Given the description of an element on the screen output the (x, y) to click on. 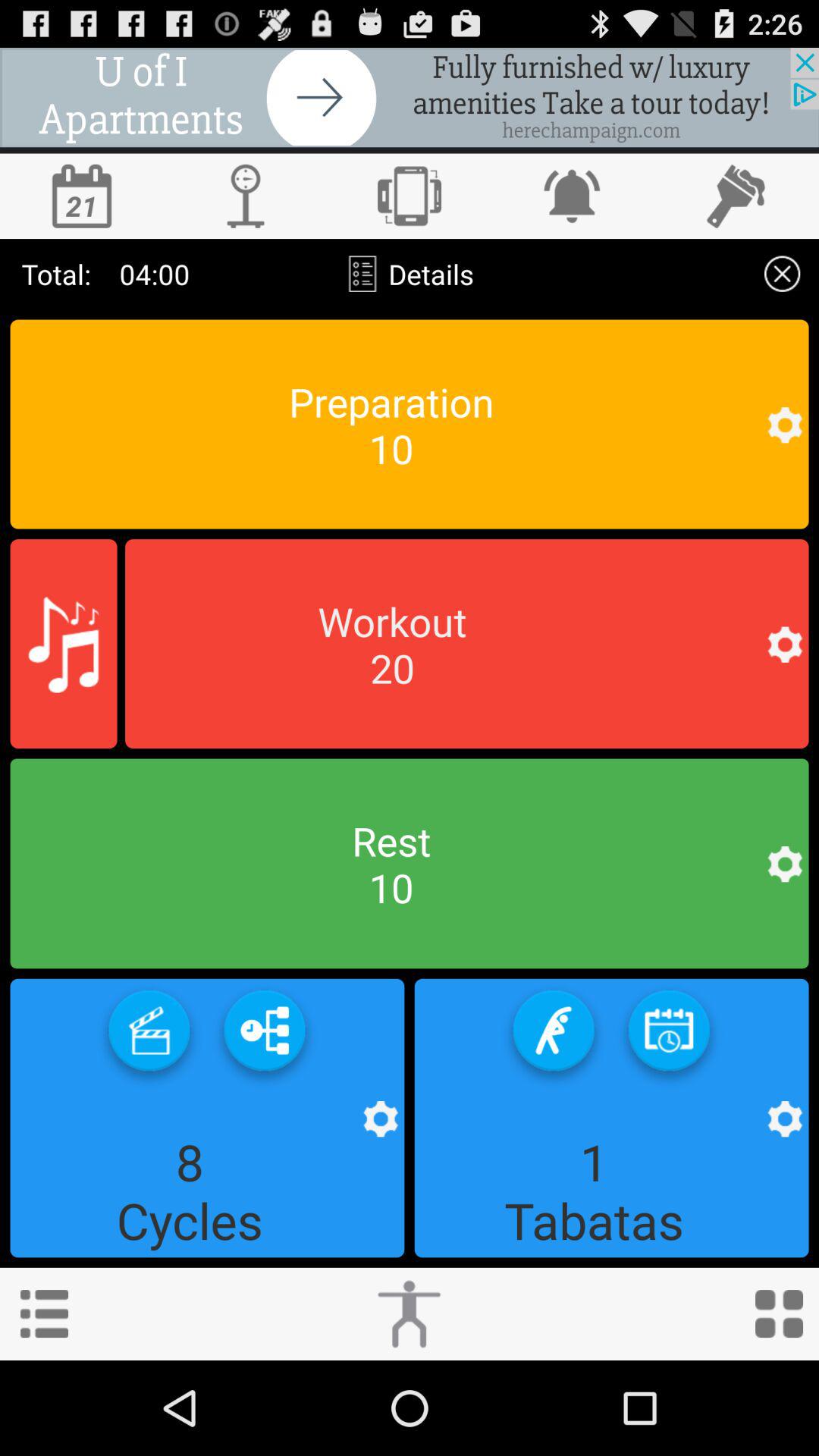
click for workout (408, 1314)
